Given the description of an element on the screen output the (x, y) to click on. 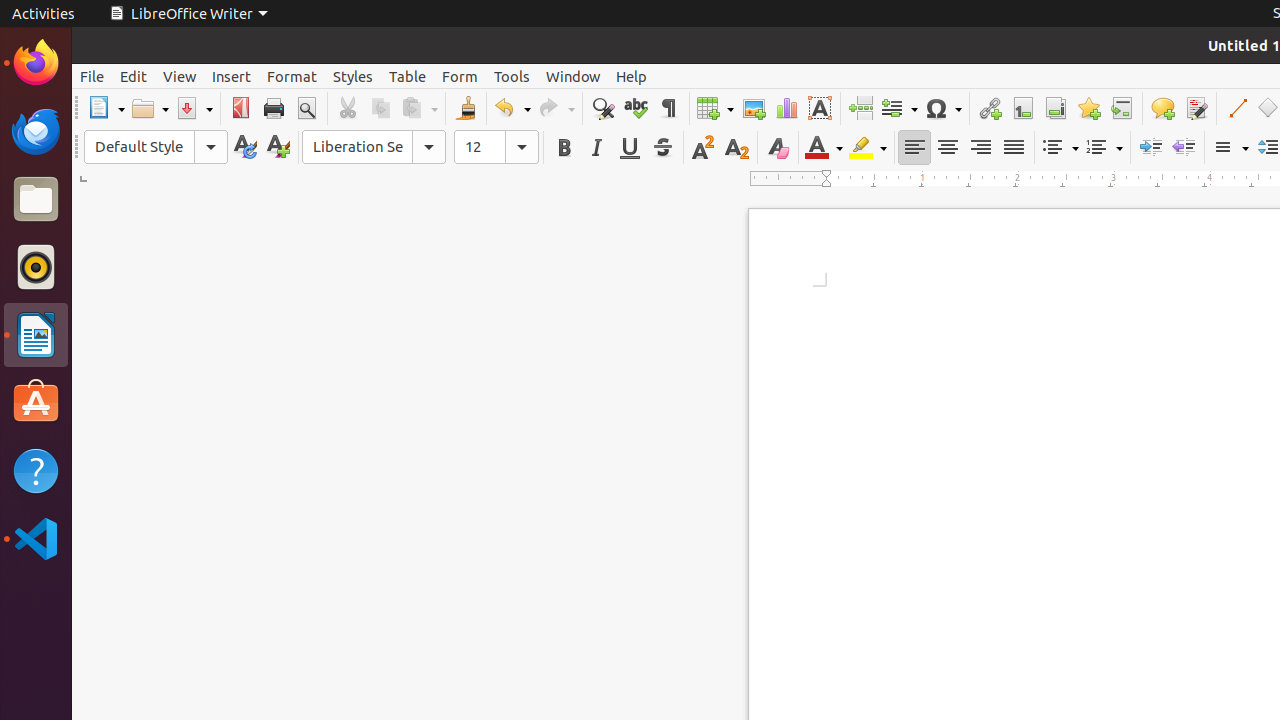
Open Element type: push-button (150, 108)
New Element type: push-button (277, 147)
Line Element type: toggle-button (1236, 108)
Track Changes Functions Element type: toggle-button (1195, 108)
Help Element type: menu (631, 76)
